Given the description of an element on the screen output the (x, y) to click on. 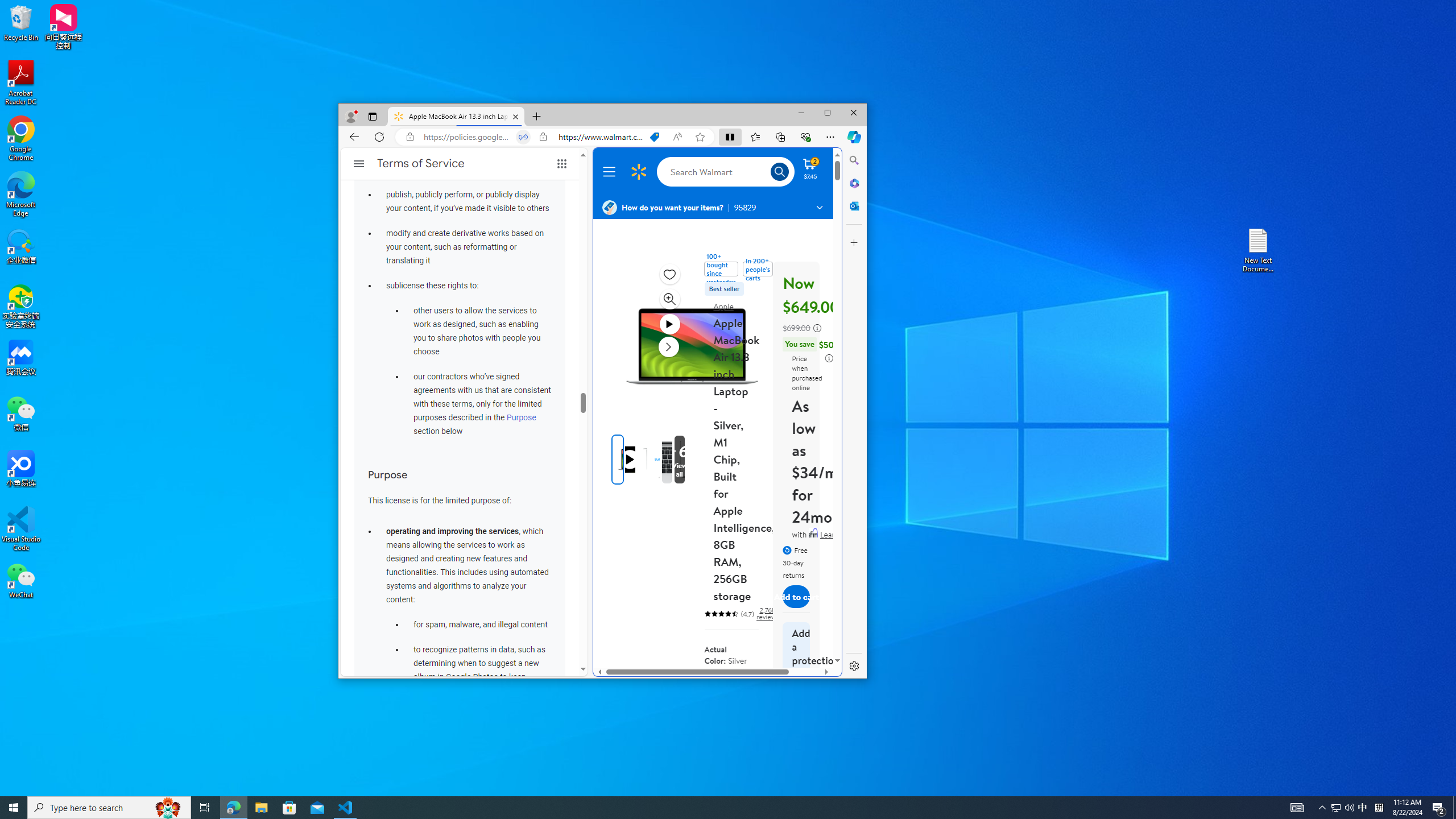
learn more about strikethrough prices (817, 328)
AutomationID: 4105 (1297, 807)
